Given the description of an element on the screen output the (x, y) to click on. 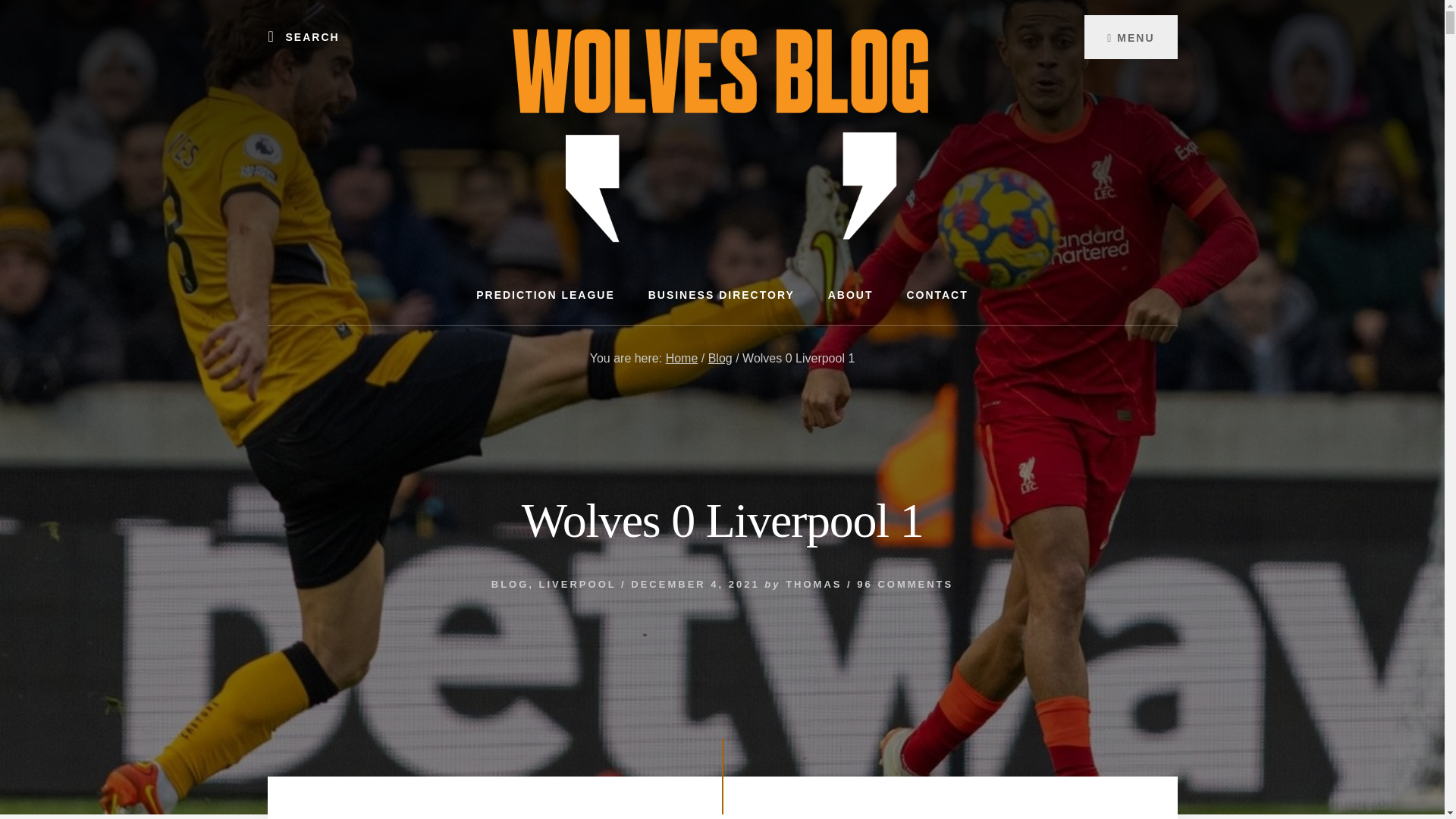
Home (681, 358)
BLOG (510, 583)
CONTACT (936, 295)
96 COMMENTS (905, 583)
LIVERPOOL (576, 583)
PREDICTION LEAGUE (545, 295)
Blog (719, 358)
